Given the description of an element on the screen output the (x, y) to click on. 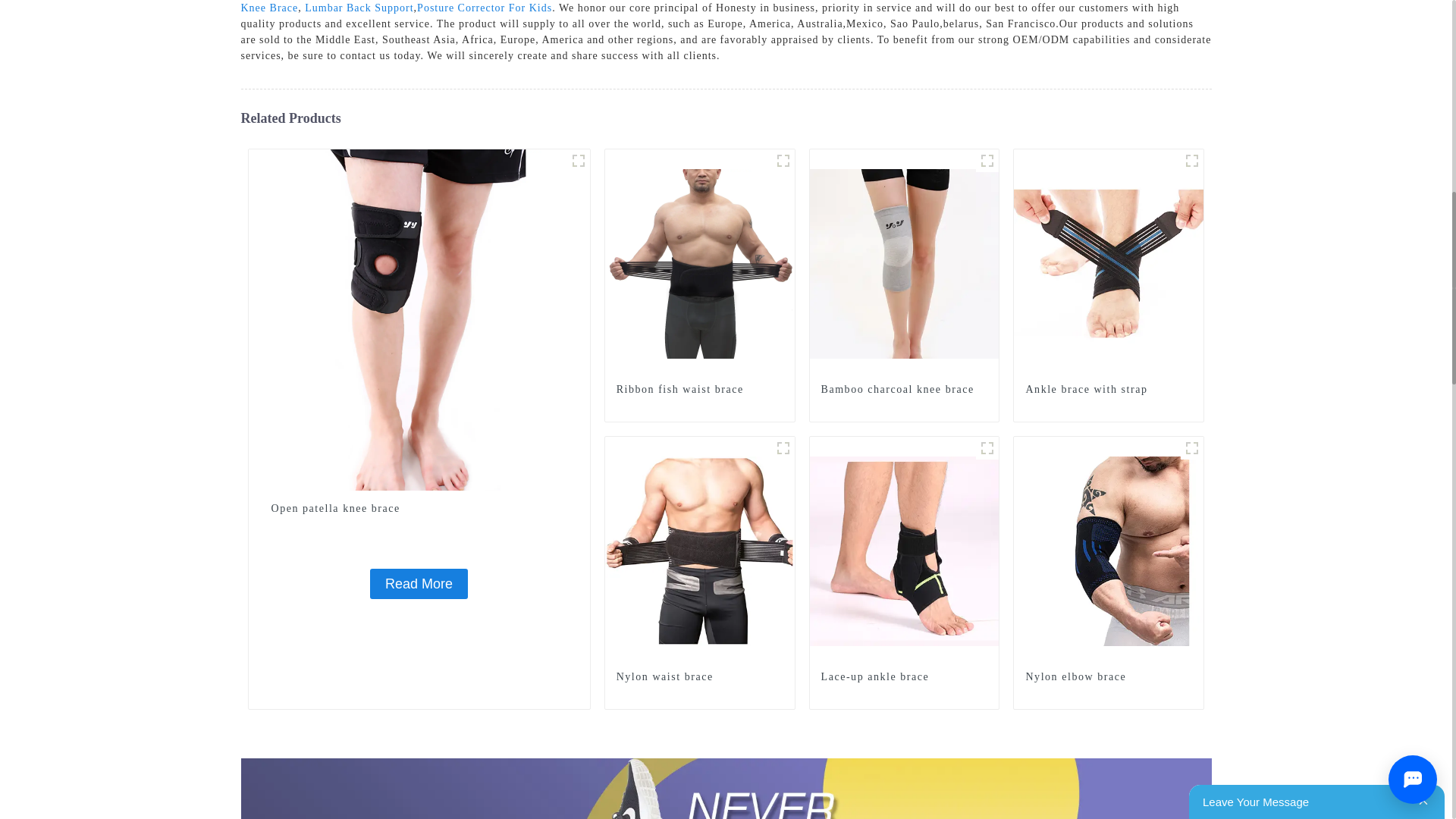
Open patella knee brace (418, 318)
tysf (986, 160)
Ankle brace with strap (1108, 389)
Nylon Waist Brace (782, 447)
Nylon waist brace (699, 550)
5056 (578, 160)
asxq (1192, 160)
Ankle brace with strap (1108, 263)
Ribbon fish waist brace (699, 389)
Lumbar Back Support (358, 7)
